Given the description of an element on the screen output the (x, y) to click on. 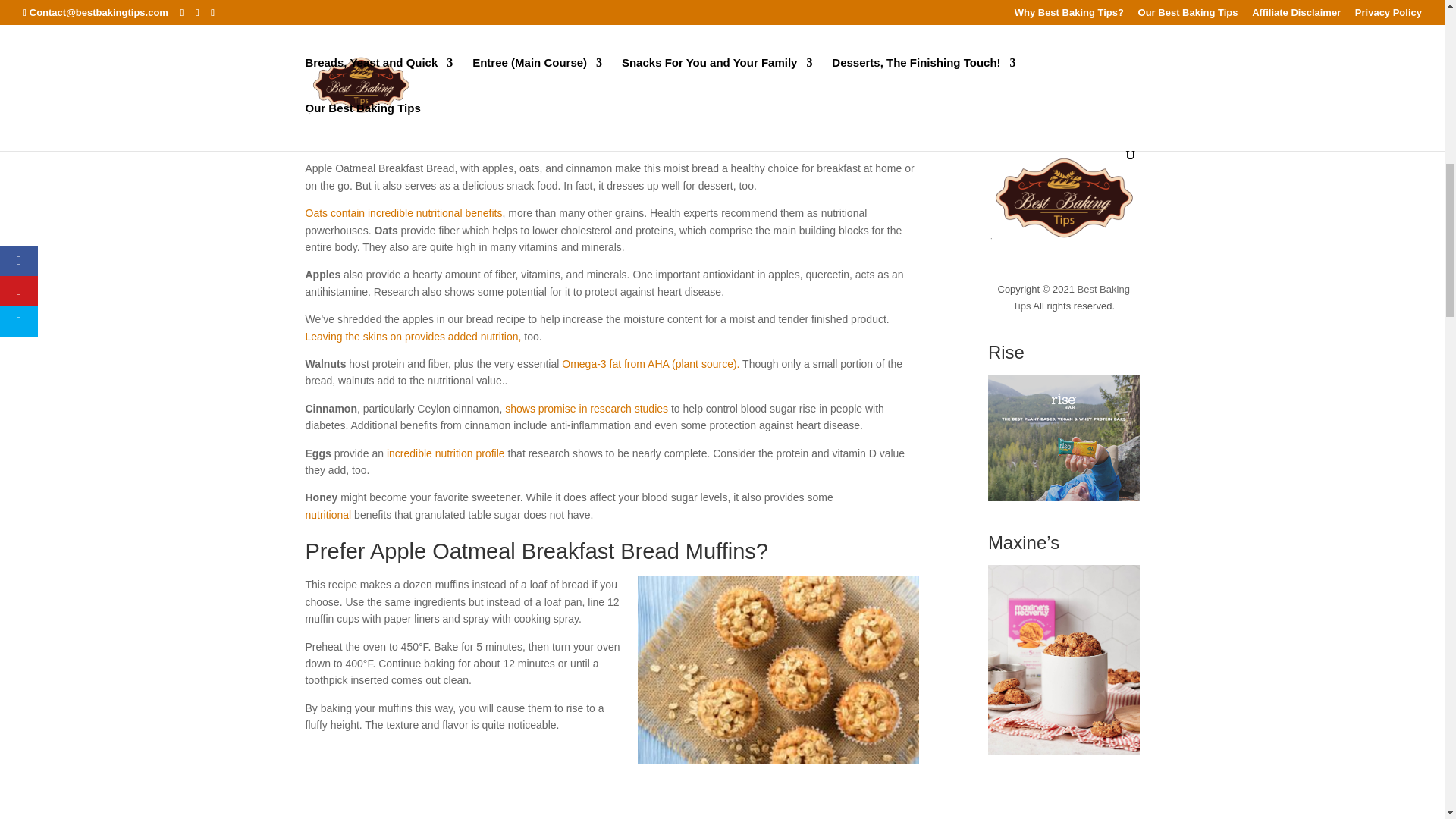
Notes (363, 54)
Apple Oatmeal Breakfast Bread (389, 8)
Nutrition (368, 69)
